Given the description of an element on the screen output the (x, y) to click on. 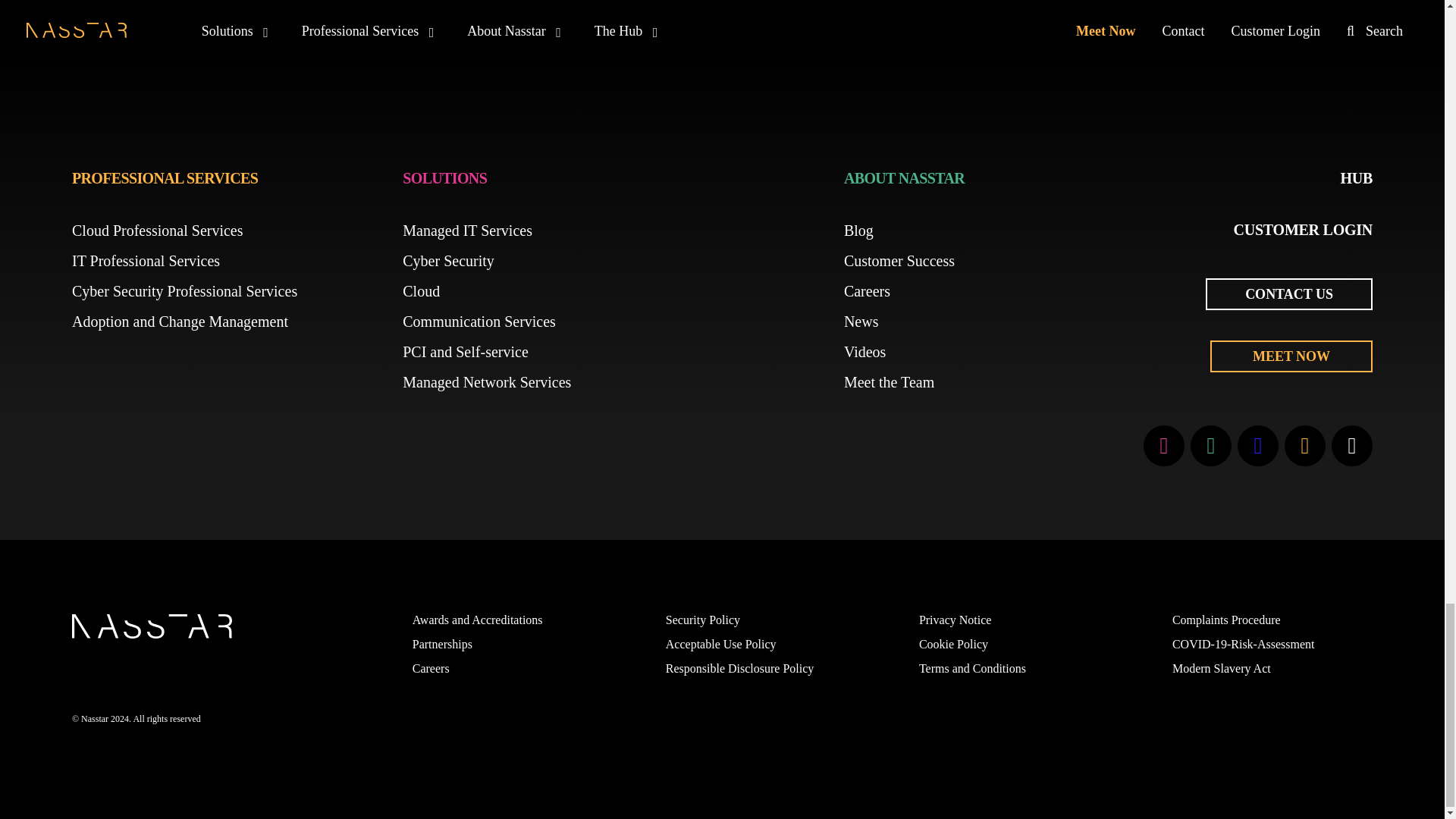
Opens in a new window (1163, 445)
Opens in a new window (430, 667)
Opens in a new window (1211, 445)
Opens in a new window (1304, 445)
Opens in a new window (1352, 445)
Opens in a new window (1257, 445)
Opens in a new window (866, 290)
